Given the description of an element on the screen output the (x, y) to click on. 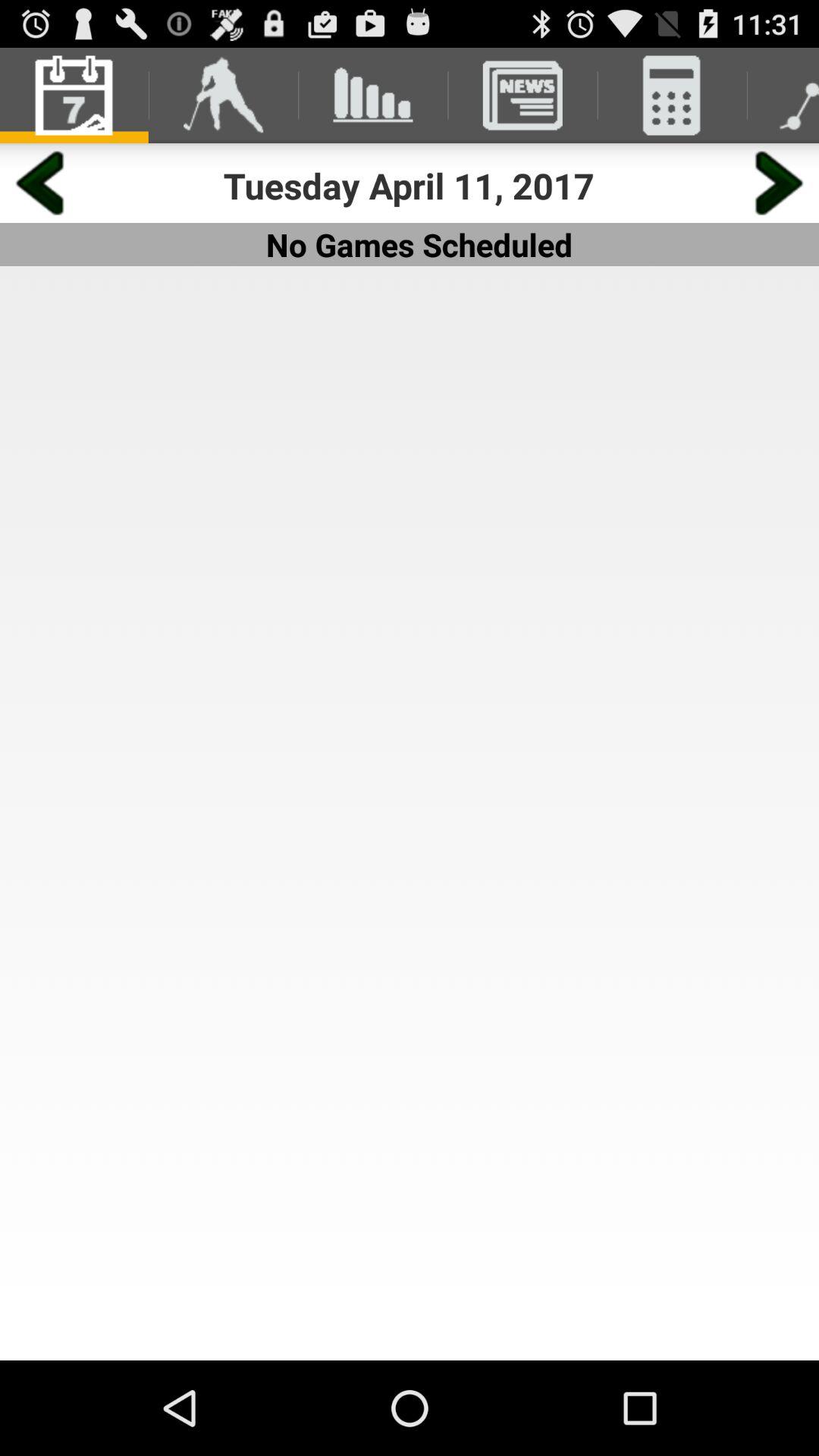
go to next (779, 182)
